Given the description of an element on the screen output the (x, y) to click on. 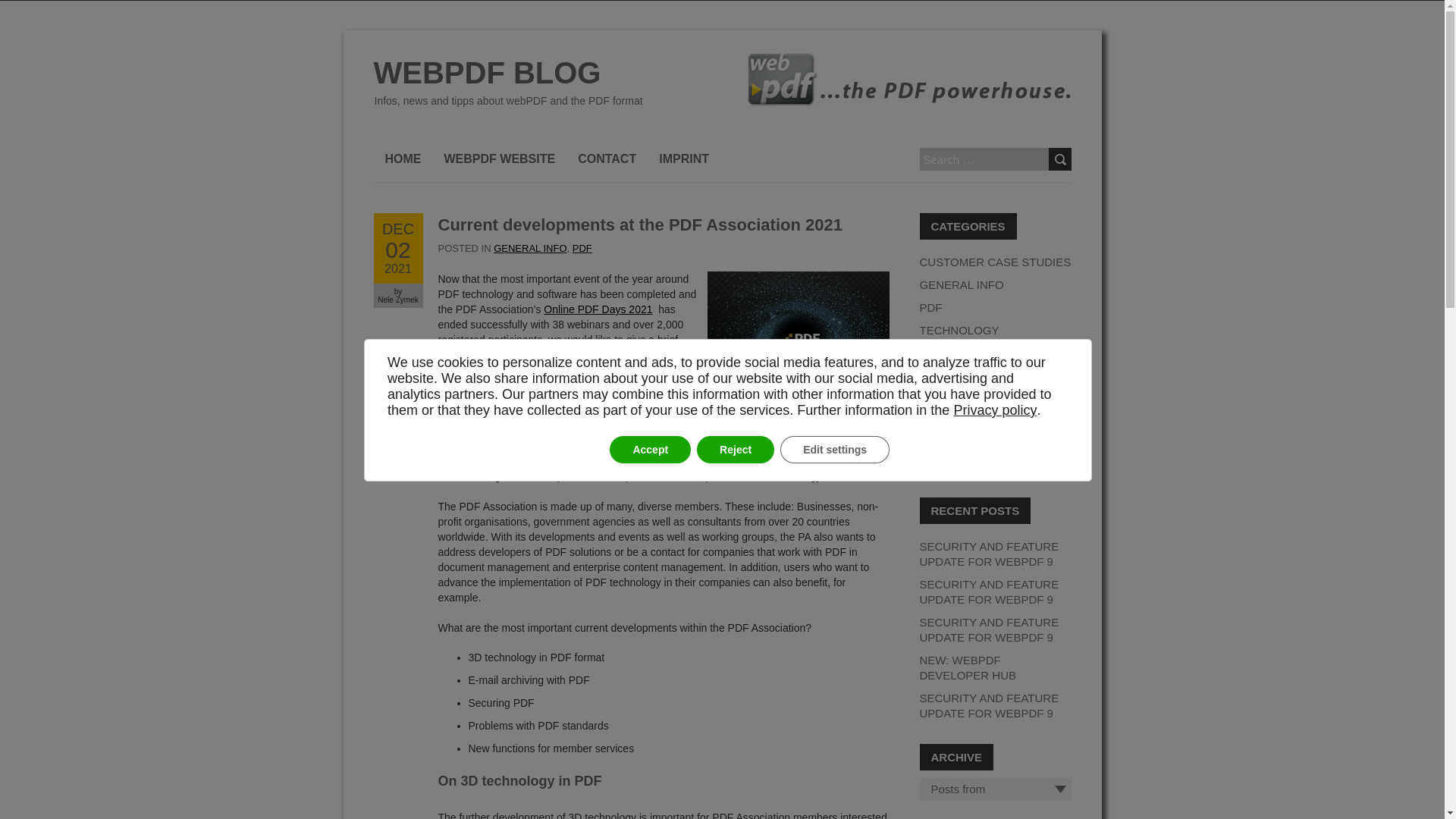
WEBPDF BLOG (507, 72)
Search (1059, 159)
Current developments at the PDF Association 2021 (397, 248)
IMPRINT (683, 158)
CONTACT (397, 248)
Quelle: PDF Association (606, 158)
WEBPDF WEBSITE (797, 350)
PDF (499, 158)
HOME (582, 247)
Online PDF Days 2021 (402, 158)
GENERAL INFO (597, 309)
Search (529, 247)
Search (1059, 159)
Privacy policy (1059, 159)
